Given the description of an element on the screen output the (x, y) to click on. 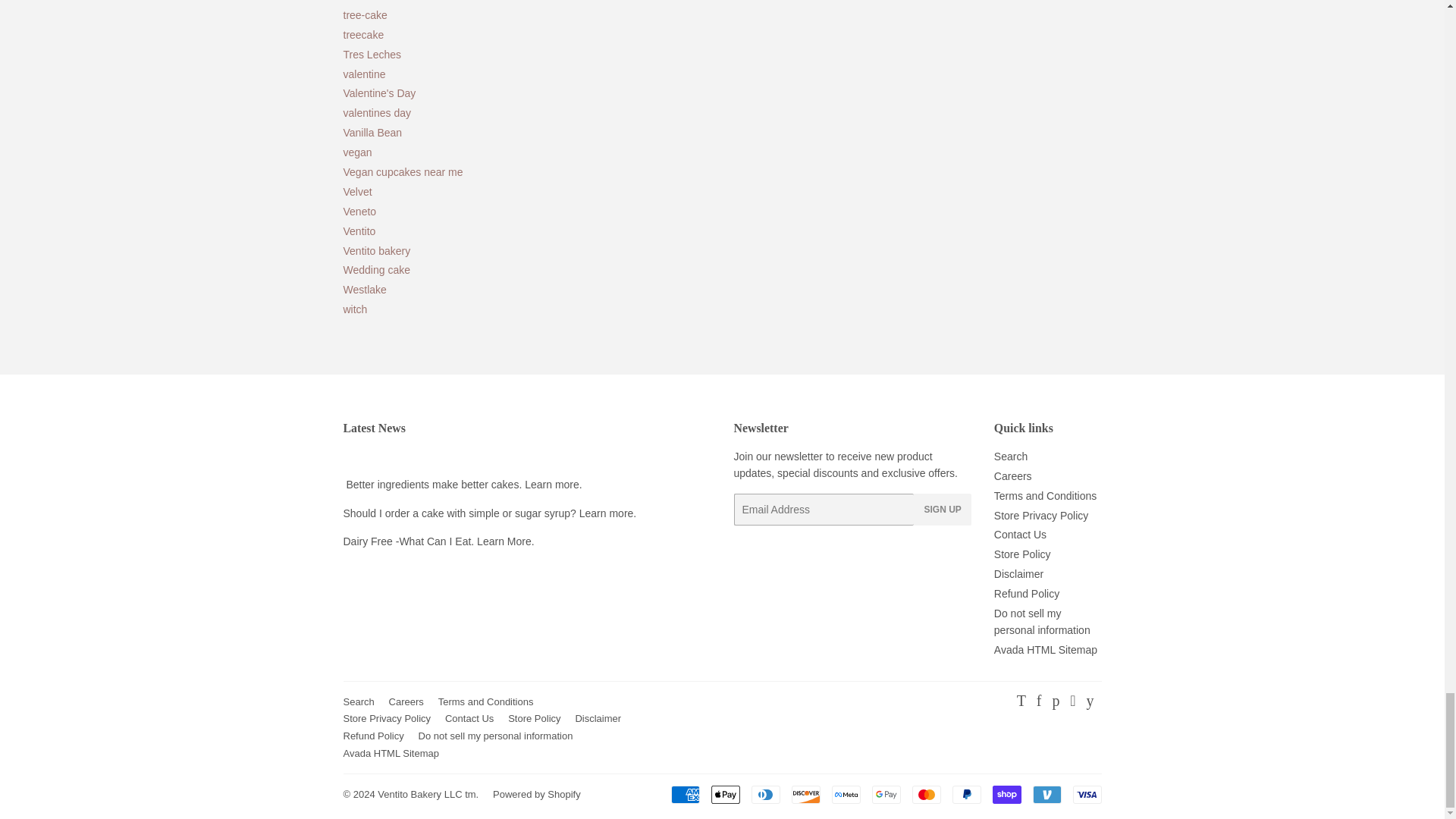
Google Pay (886, 794)
Mastercard (925, 794)
PayPal (966, 794)
Shop Pay (1005, 794)
Apple Pay (725, 794)
Venmo (1046, 794)
Meta Pay (845, 794)
American Express (683, 794)
Discover (806, 794)
Visa (1085, 794)
